Given the description of an element on the screen output the (x, y) to click on. 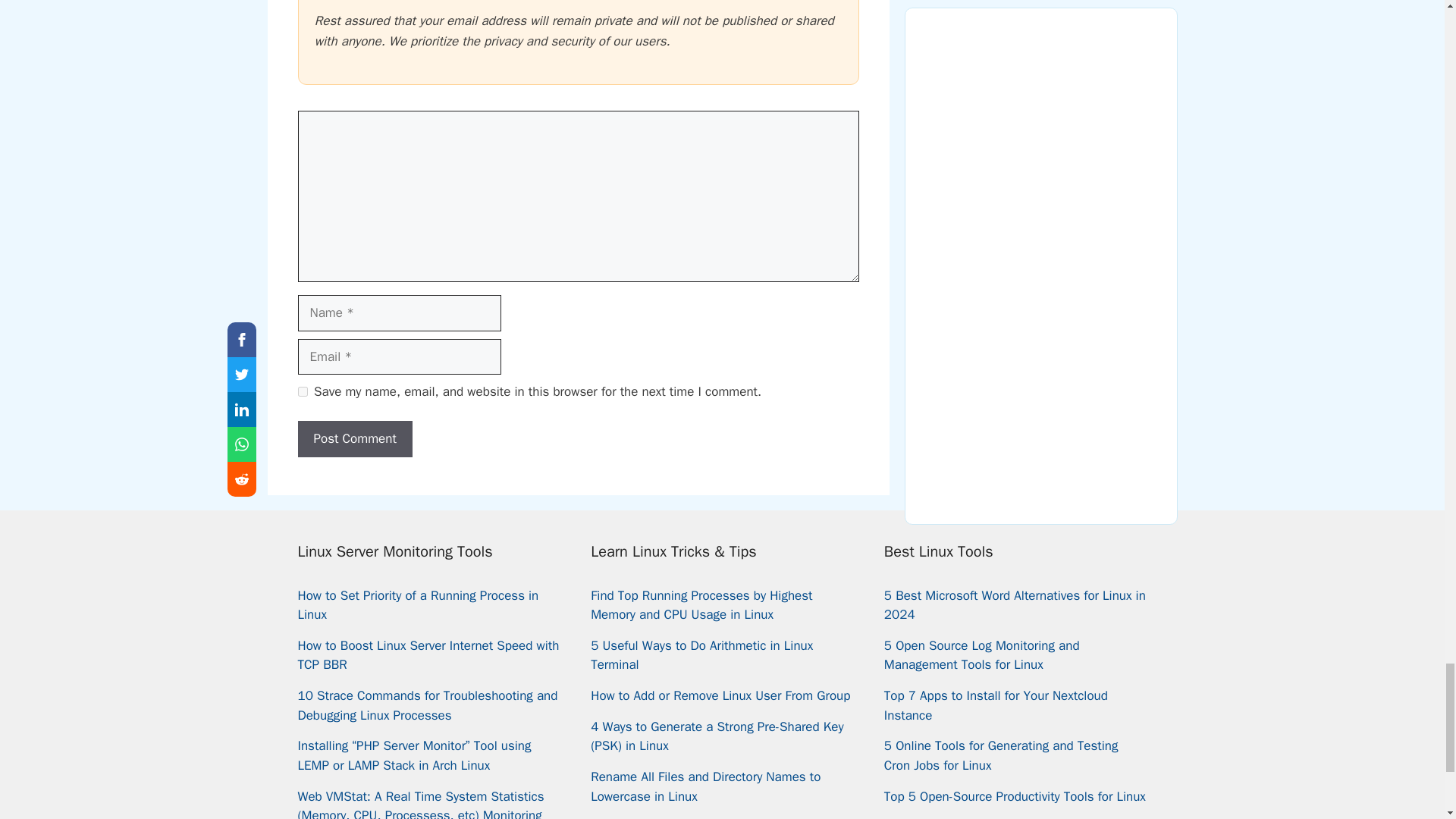
yes (302, 391)
Post Comment (354, 438)
